Given the description of an element on the screen output the (x, y) to click on. 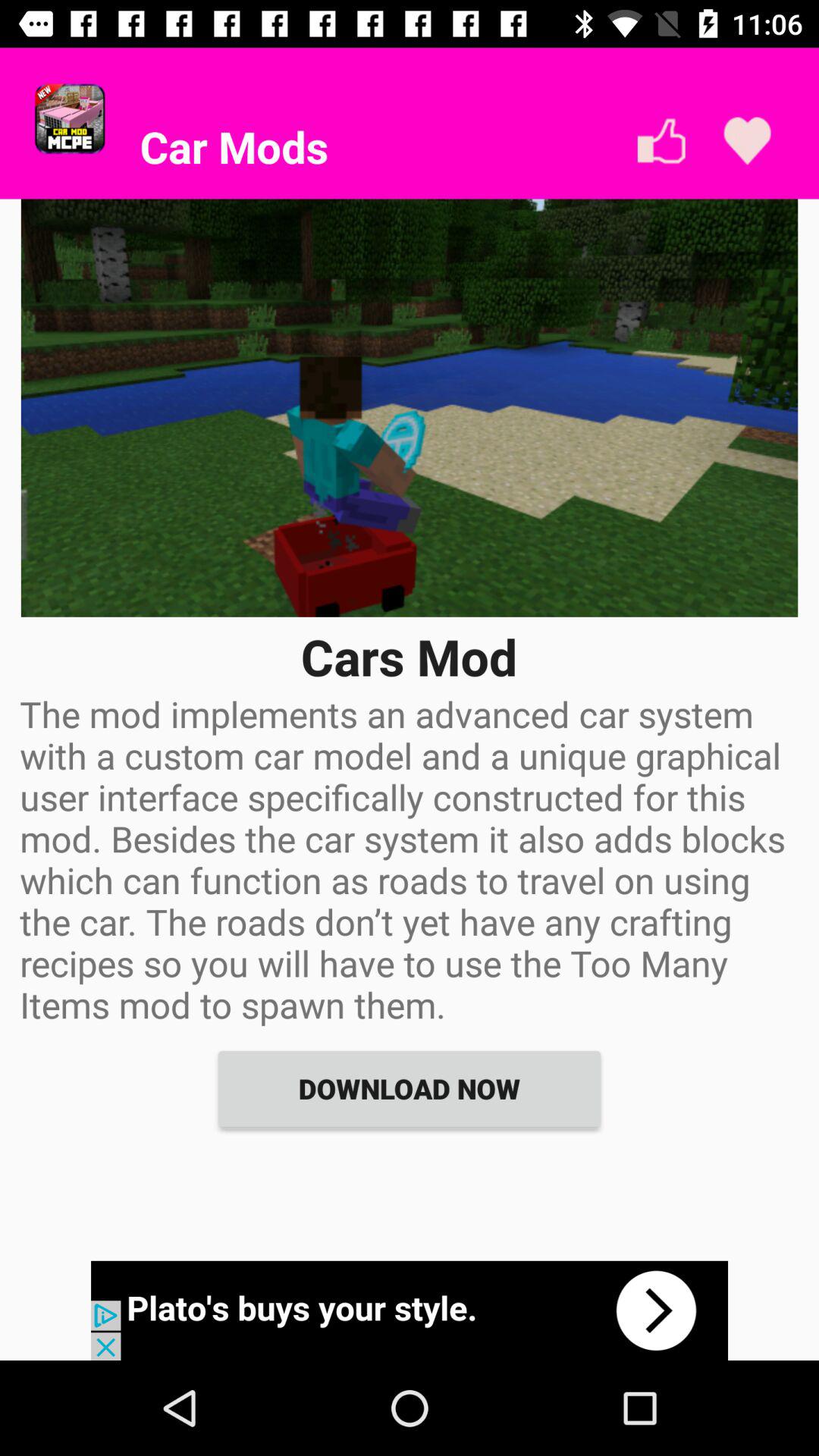
like button (661, 140)
